Given the description of an element on the screen output the (x, y) to click on. 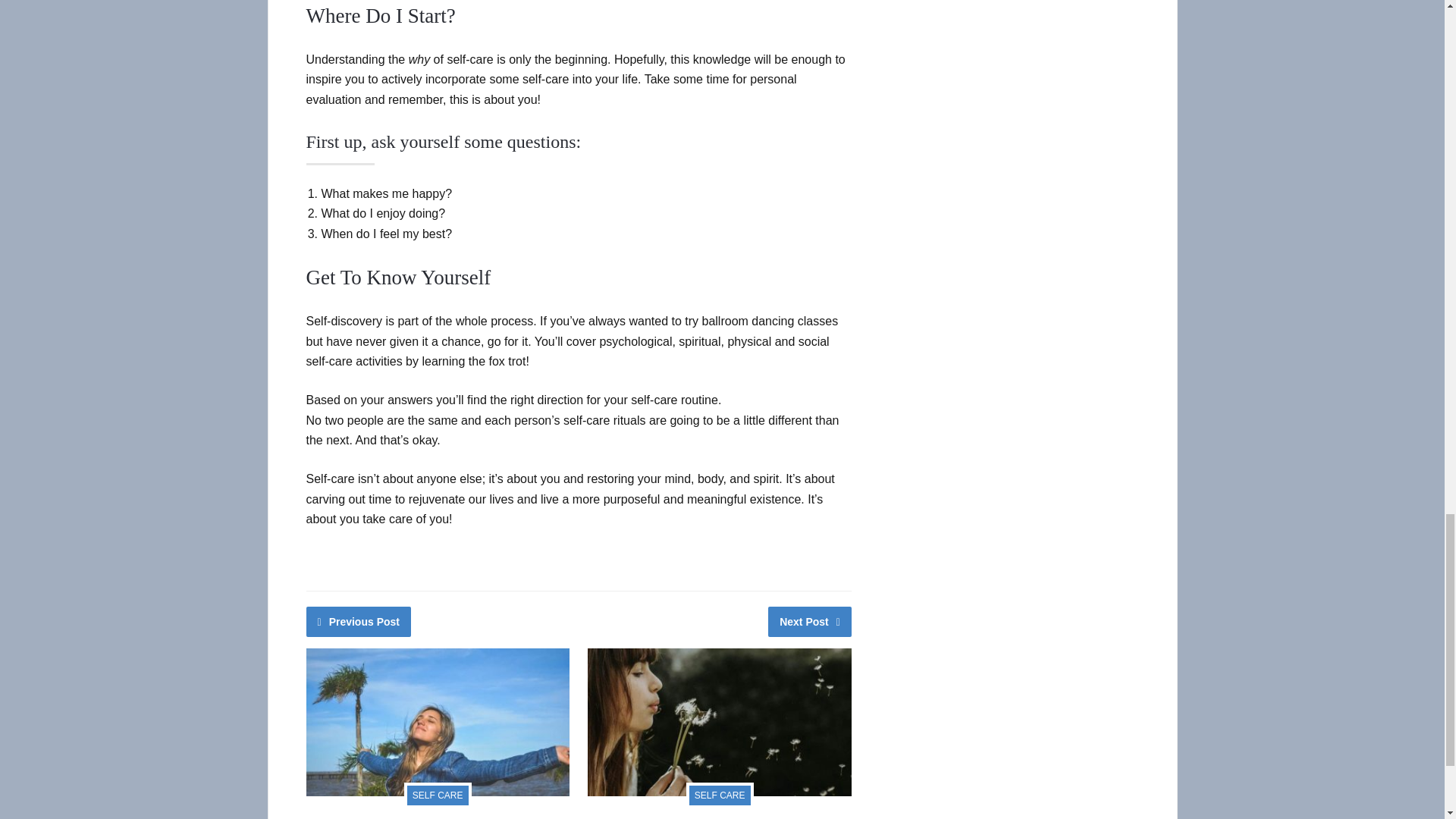
SELF CARE (719, 793)
Stop Blaming Yourself for Past Mistakes (692, 817)
Previous Post (358, 621)
Benefits of Self-Care (359, 817)
Next Post (809, 621)
SELF CARE (437, 793)
